Given the description of an element on the screen output the (x, y) to click on. 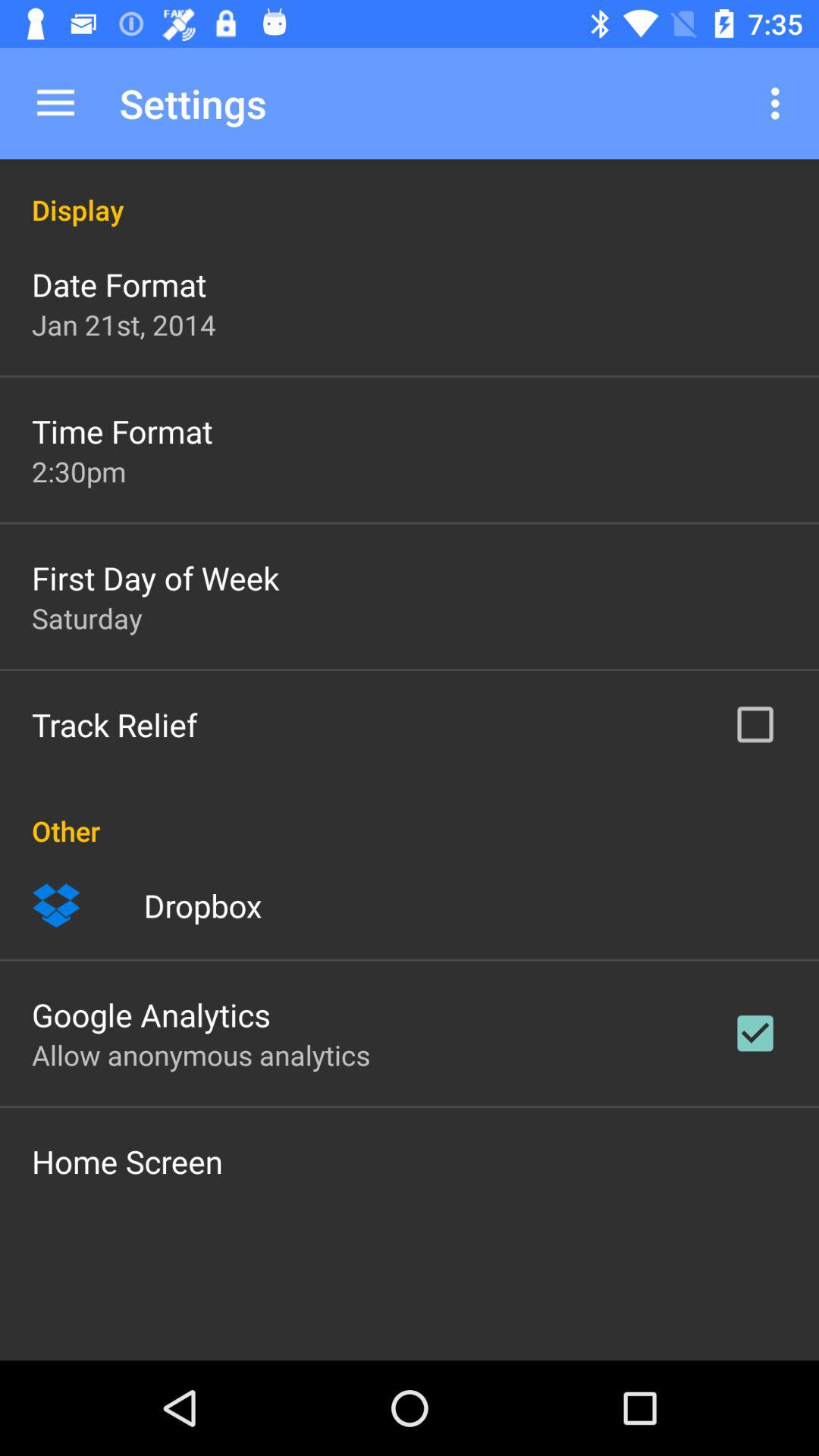
turn on the item below the allow anonymous analytics (126, 1161)
